Given the description of an element on the screen output the (x, y) to click on. 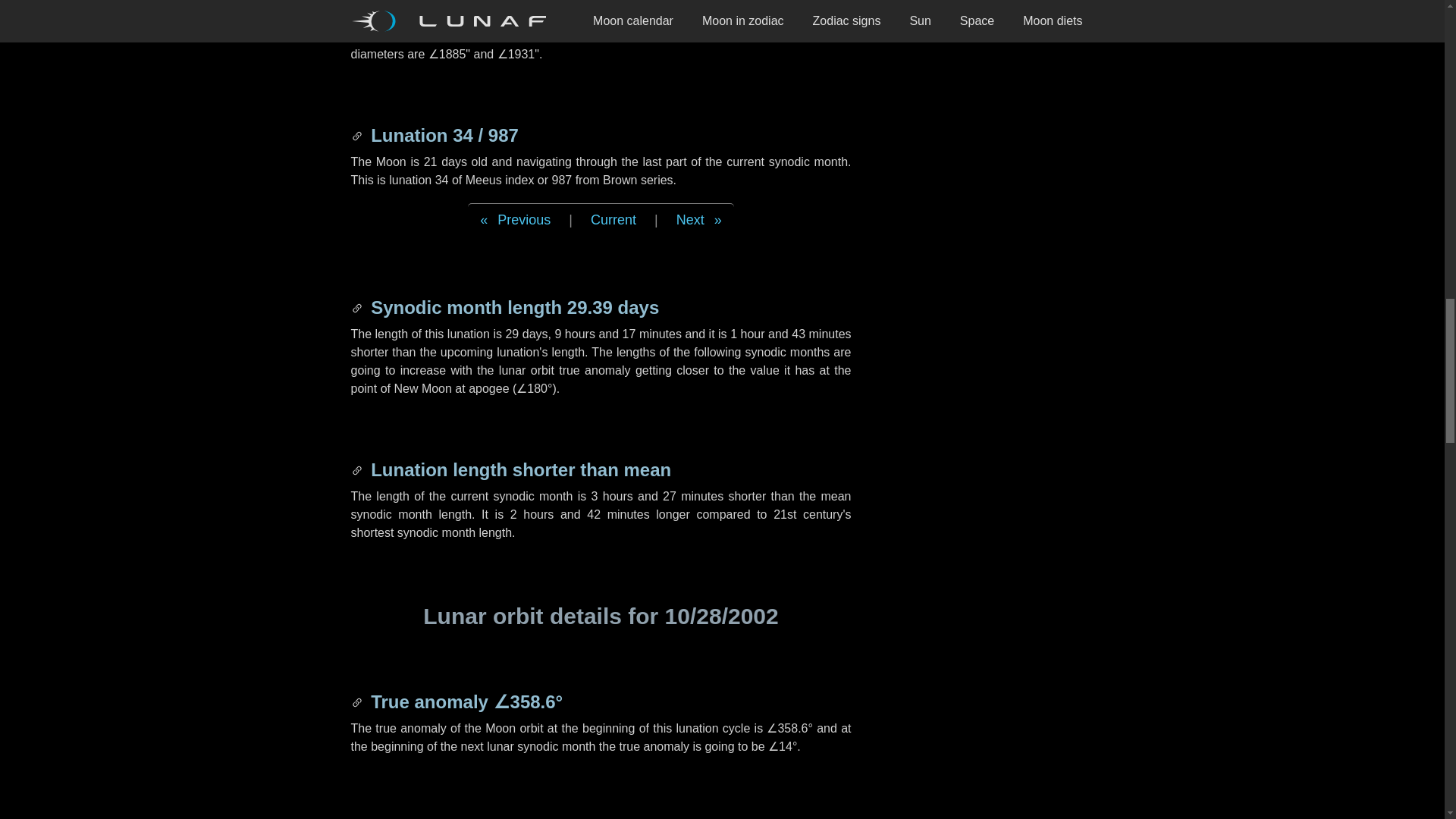
Previous (514, 219)
